Given the description of an element on the screen output the (x, y) to click on. 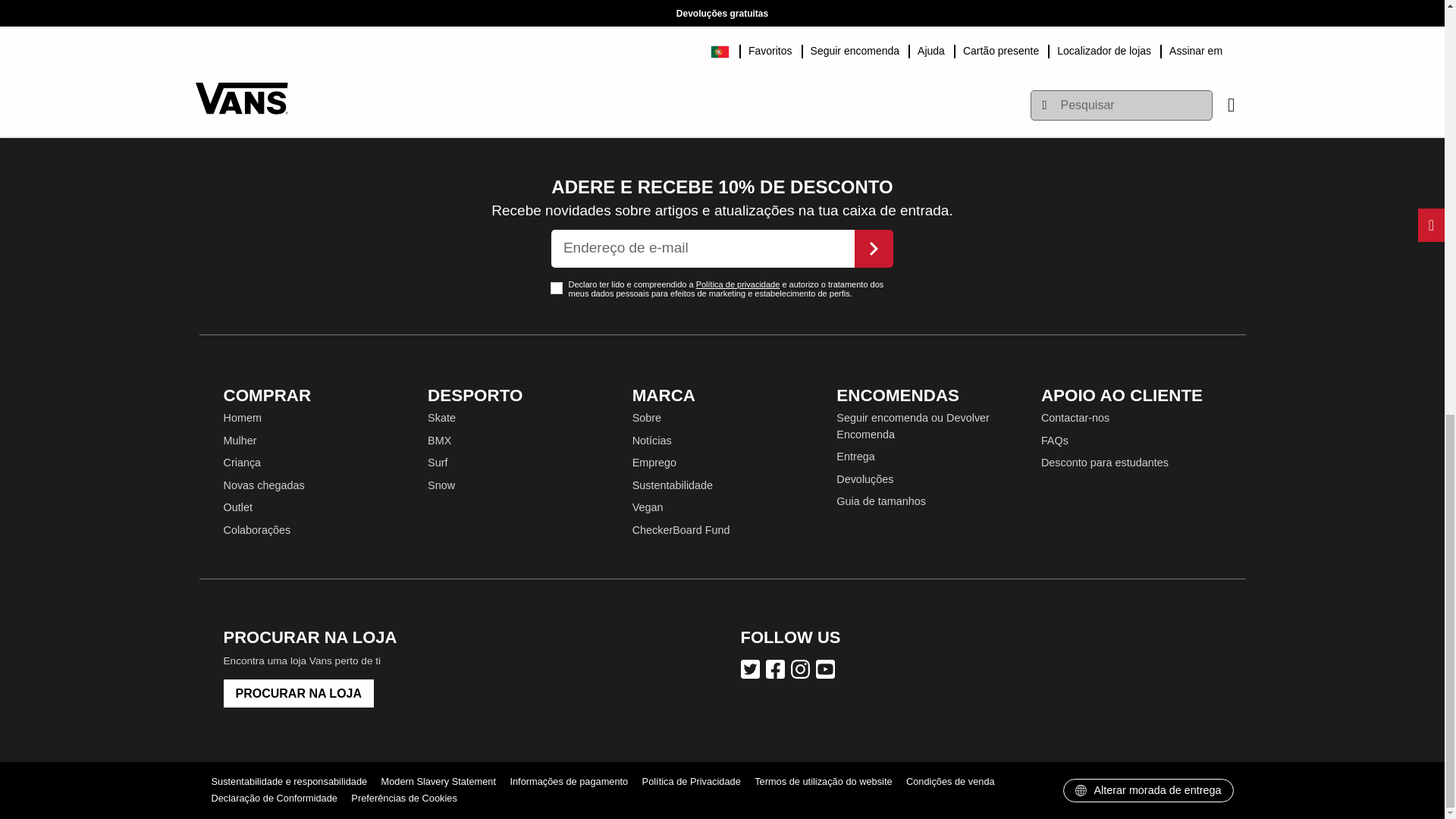
on (556, 287)
